Given the description of an element on the screen output the (x, y) to click on. 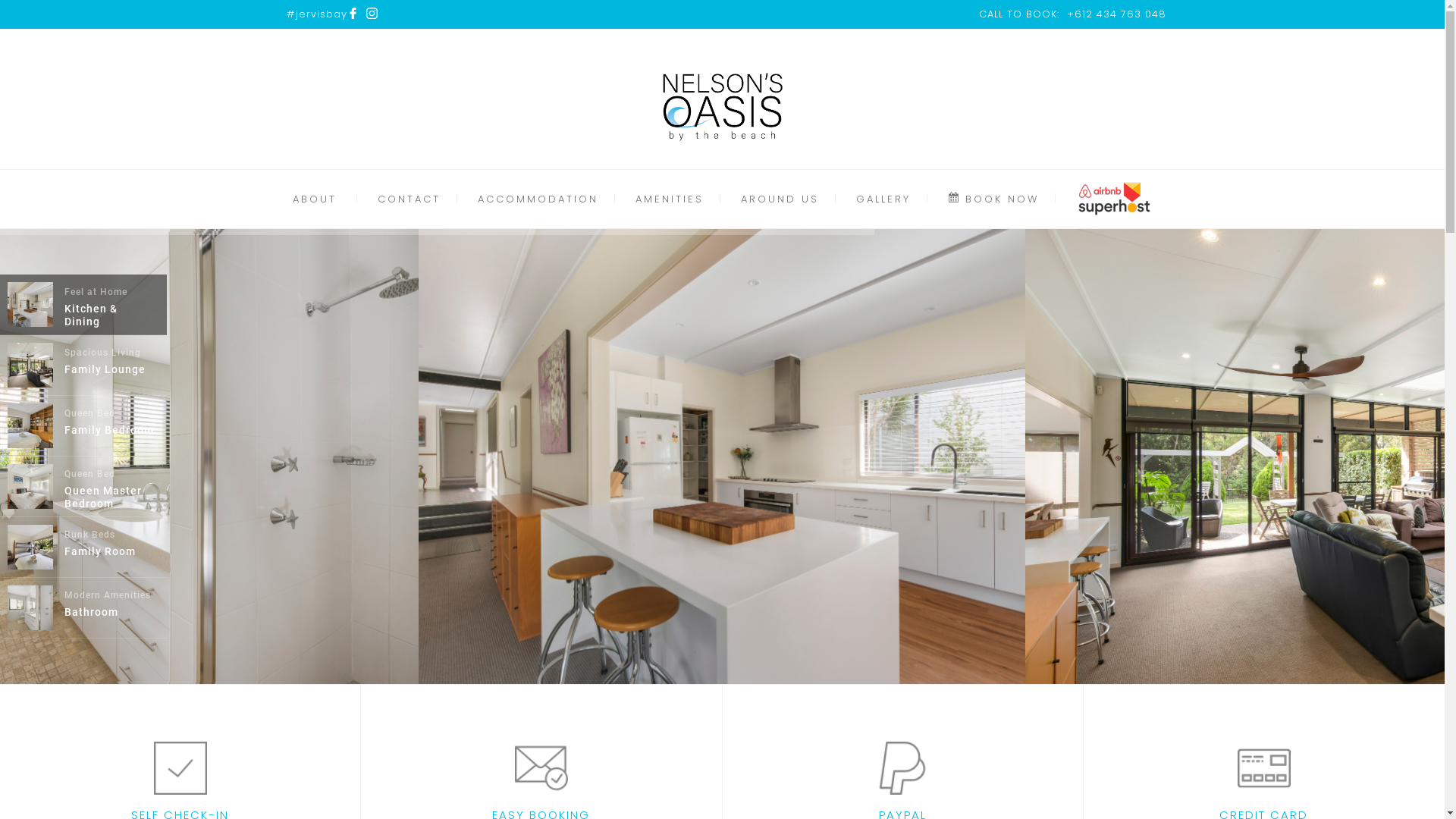
CALL TO BOOK: Element type: text (1018, 13)
AROUND US Element type: text (779, 198)
ABOUT Element type: text (314, 198)
Airbnb Element type: text (1113, 198)
+612 434 763 048 Element type: text (1115, 13)
AMENITIES Element type: text (669, 198)
BOOK NOW Element type: text (992, 198)
GALLERY Element type: text (883, 198)
CONTACT Element type: text (408, 198)
#jervisbay Element type: text (316, 13)
ACCOMMODATION Element type: text (537, 198)
